Given the description of an element on the screen output the (x, y) to click on. 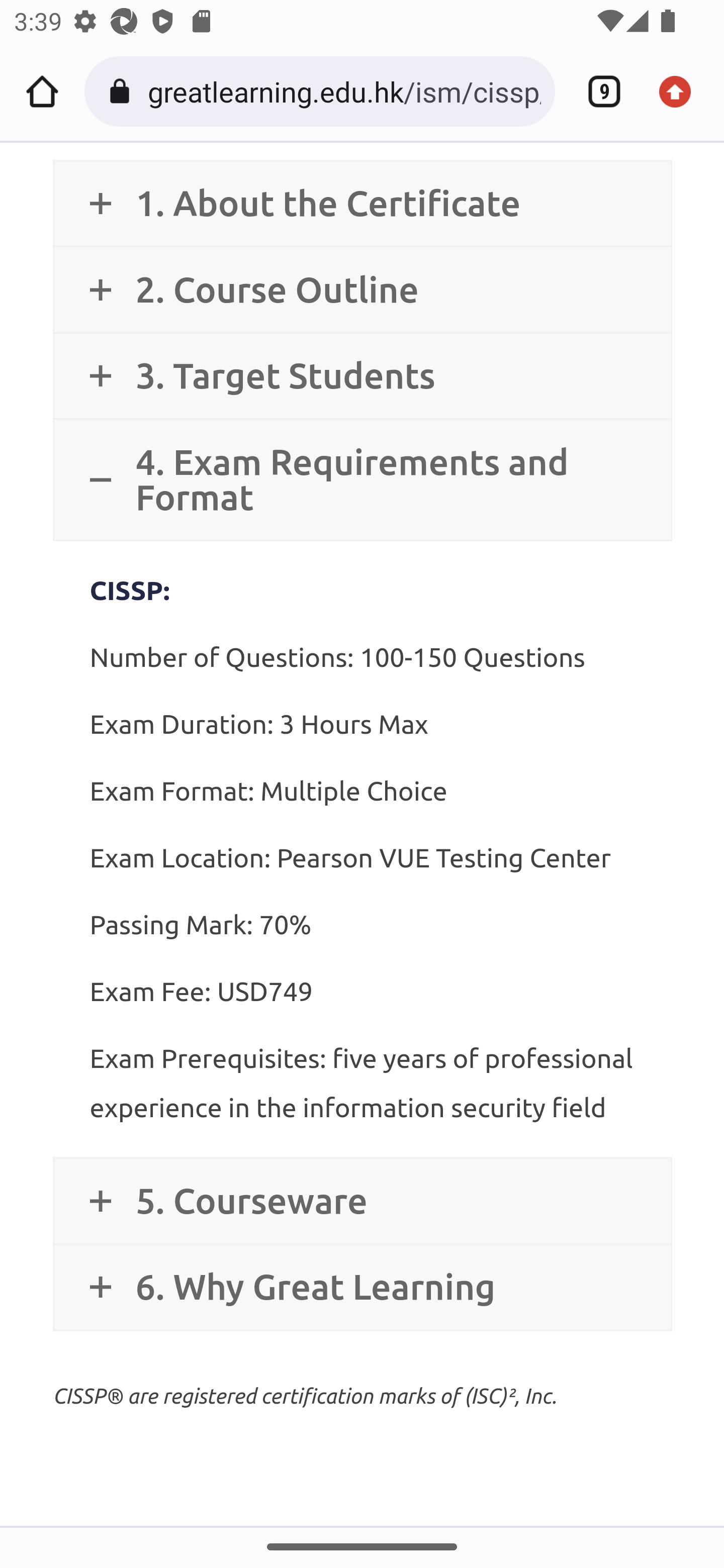
Home (42, 91)
Connection is secure (122, 91)
Switch or close tabs (597, 91)
Update available. More options (681, 91)
5. Courseware 5. Courseware 5. Courseware (361, 1200)
